Given the description of an element on the screen output the (x, y) to click on. 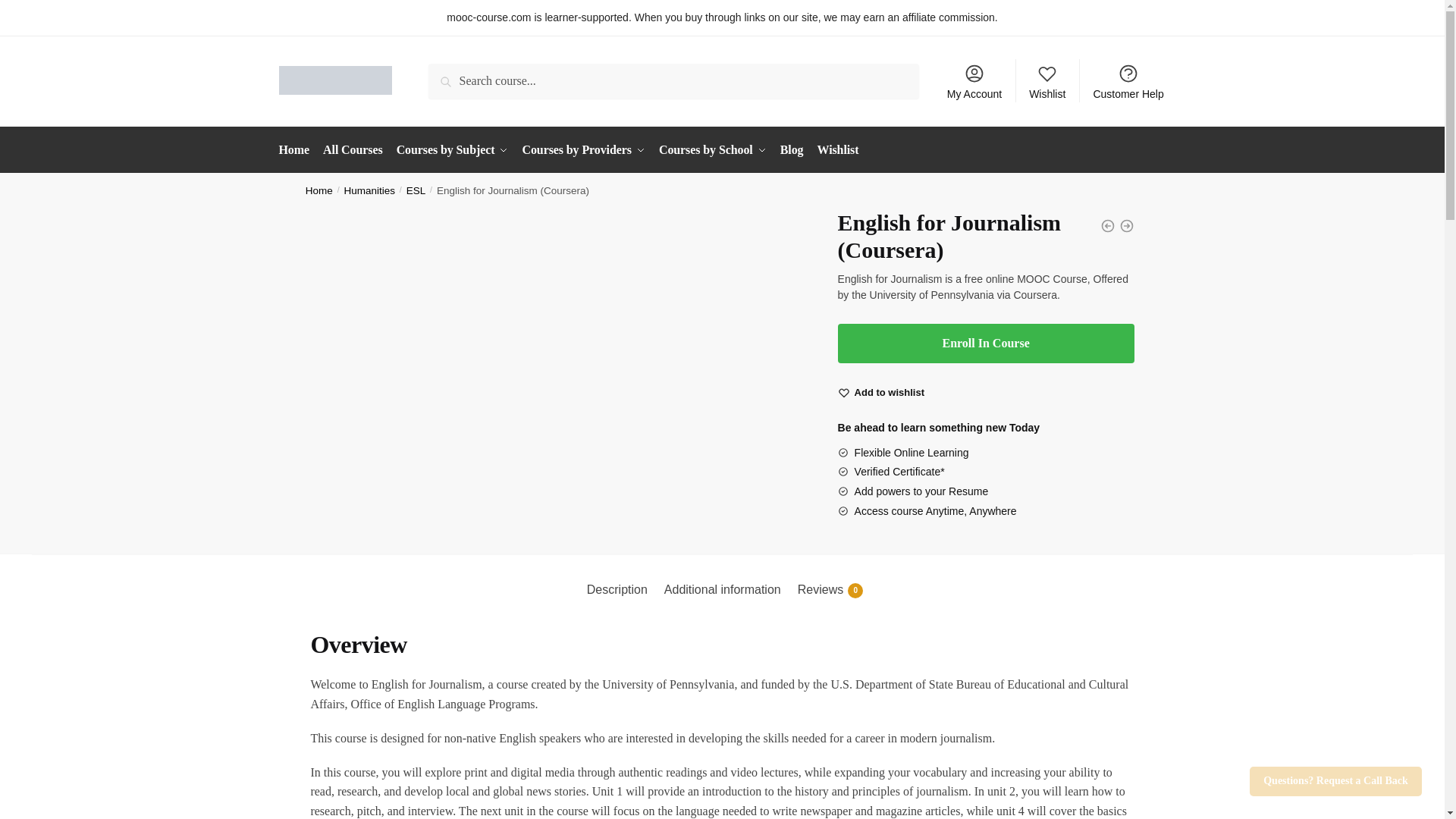
Courses by Subject (452, 149)
Courses by School (712, 149)
Customer Help (1128, 80)
Wishlist (1047, 80)
My Account (974, 80)
Search (449, 74)
Courses by Providers (583, 149)
All Courses (351, 149)
Wishlist (889, 392)
